Given the description of an element on the screen output the (x, y) to click on. 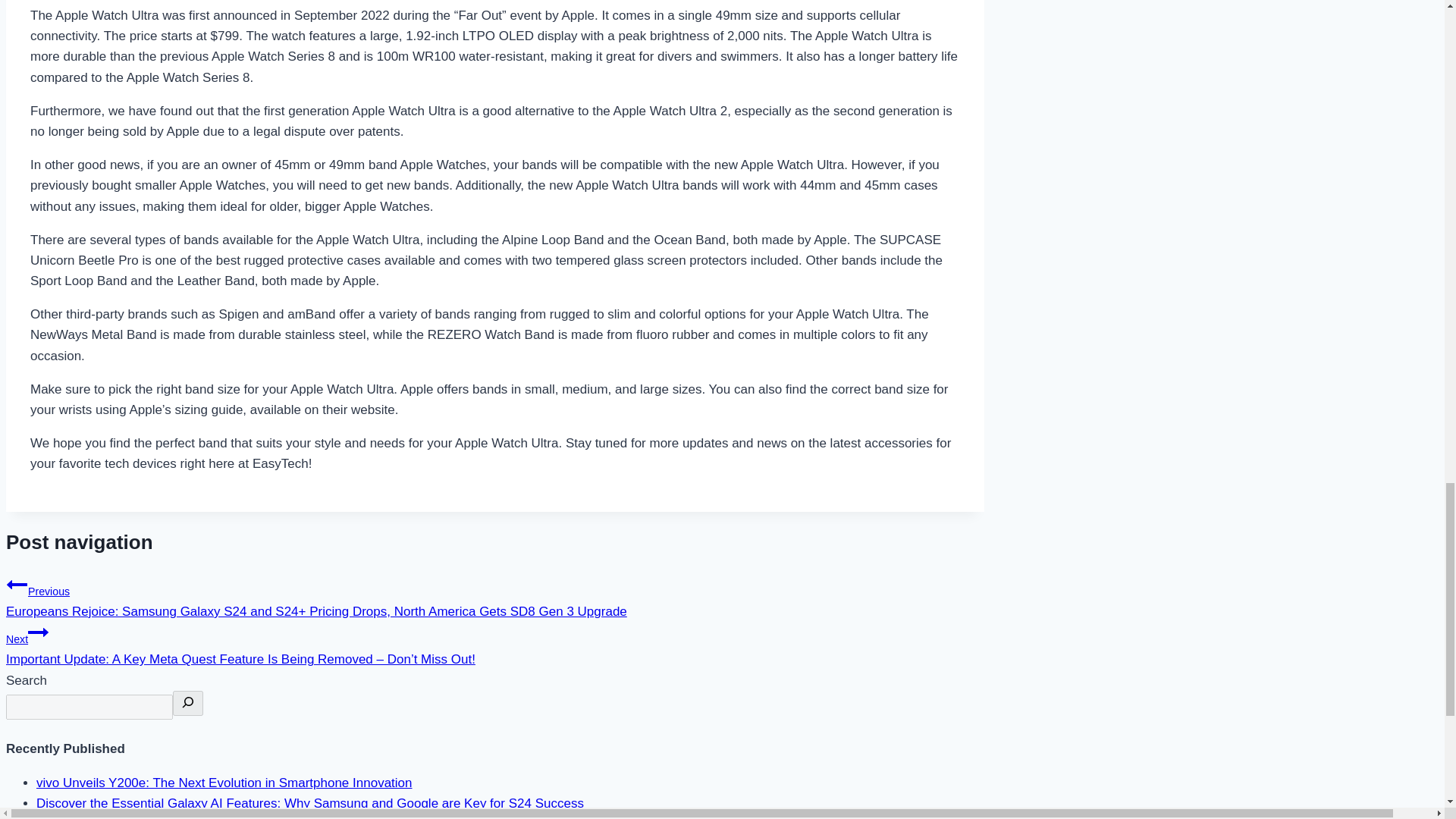
Continue (37, 631)
Previous (16, 584)
